Given the description of an element on the screen output the (x, y) to click on. 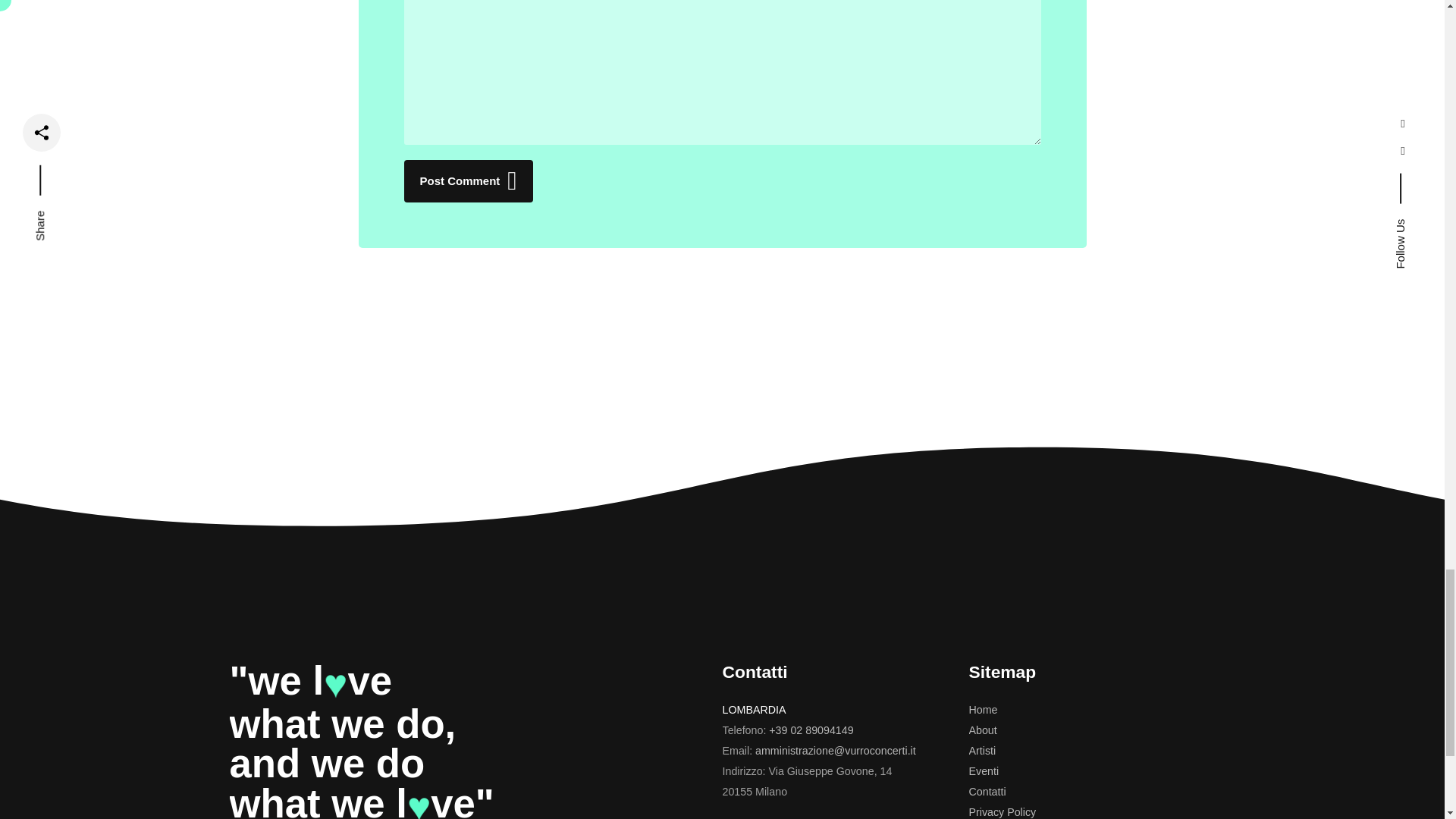
Post Comment (467, 180)
